Given the description of an element on the screen output the (x, y) to click on. 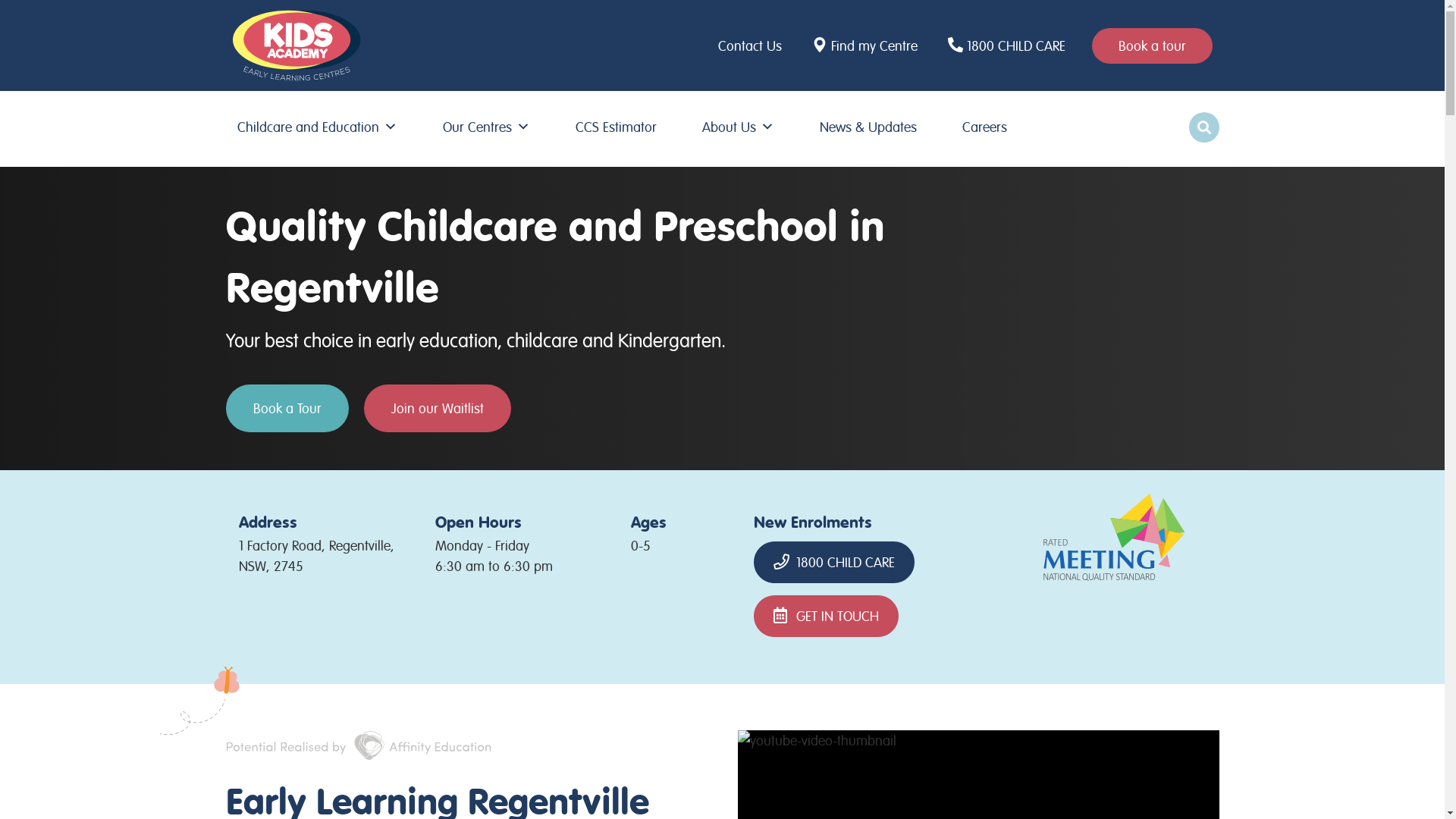
About Us Element type: text (737, 127)
1800 CHILD CARE Element type: text (833, 562)
Search Element type: text (15, 17)
News & Updates Element type: text (867, 127)
Join our Waitlist Element type: text (437, 408)
Find my Centre Element type: text (866, 44)
1800 CHILD CARE Element type: text (1008, 44)
Careers Element type: text (983, 127)
CCS Estimator Element type: text (615, 127)
Childcare and Education Element type: text (316, 127)
Book a Tour Element type: text (286, 408)
GET IN TOUCH Element type: text (825, 616)
Book a tour Element type: text (1152, 44)
Our Centres Element type: text (486, 127)
butterfly-buzz-1 Element type: hover (199, 702)
Contact Us Element type: text (753, 44)
